Given the description of an element on the screen output the (x, y) to click on. 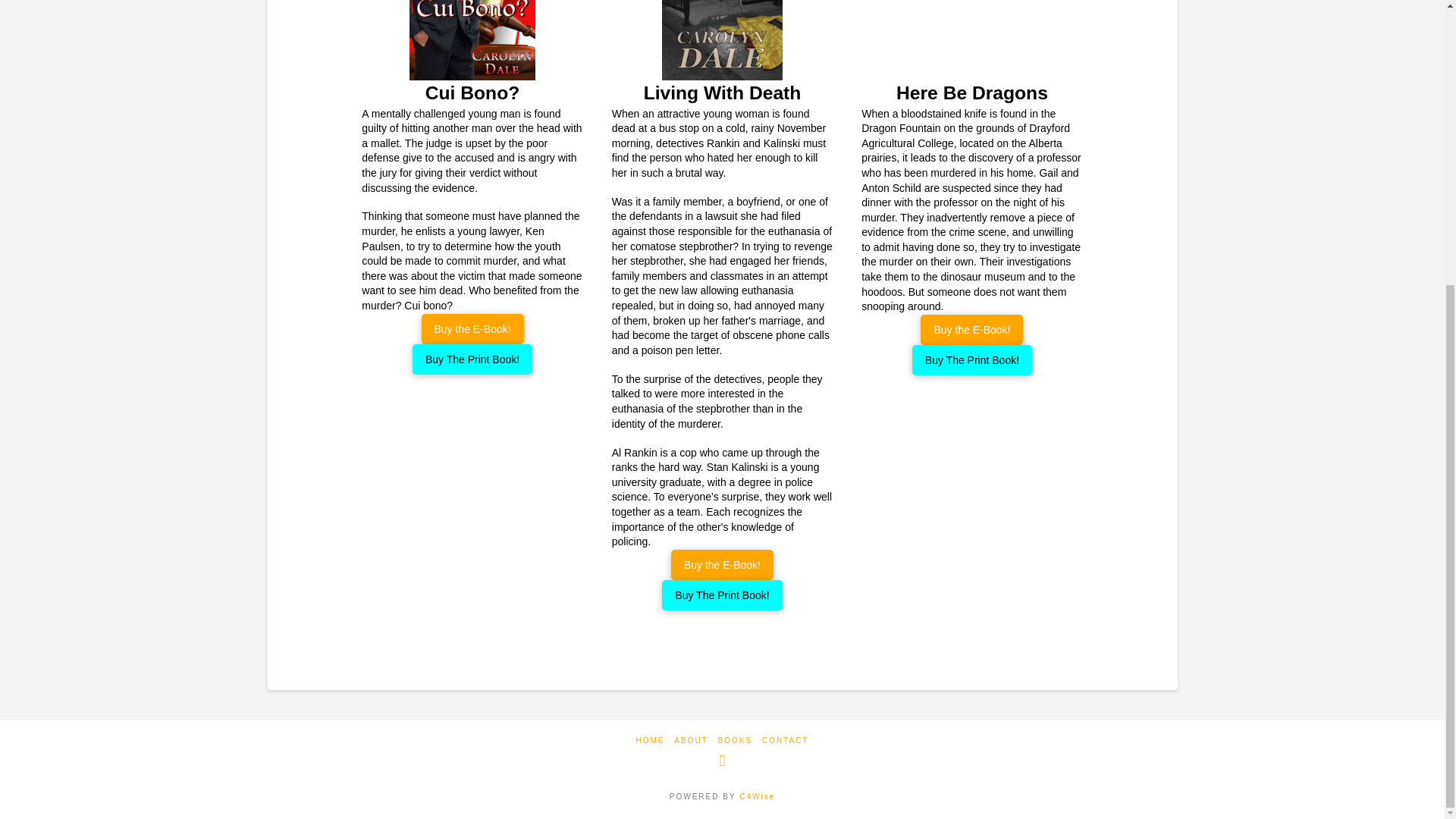
Buy The Print Book! (472, 358)
Buy the E-Book! (971, 329)
Wordpress Specialists (756, 796)
HOME (650, 740)
Buy the E-Book! (473, 328)
C4Wise (756, 796)
Buy The Print Book! (972, 359)
CONTACT (785, 740)
Buy the E-Book! (722, 564)
BOOKS (734, 740)
Buy The Print Book! (721, 594)
ABOUT (690, 740)
